Given the description of an element on the screen output the (x, y) to click on. 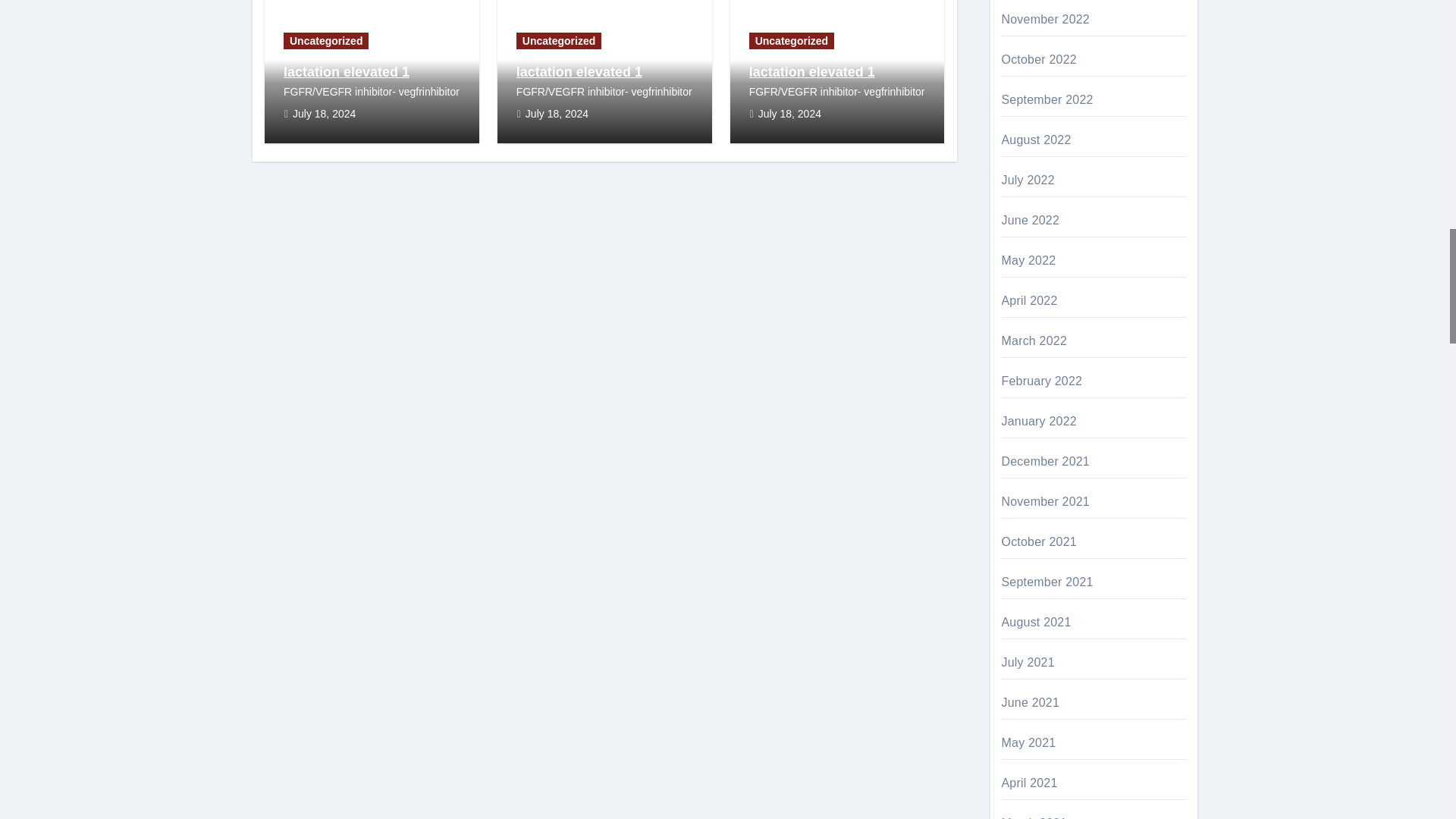
Permalink to: lactation elevated 1 (346, 71)
July 18, 2024 (323, 113)
Permalink to: lactation elevated 1 (812, 71)
Uncategorized (325, 40)
Permalink to: lactation elevated 1 (579, 71)
lactation elevated 1 (346, 71)
